Given the description of an element on the screen output the (x, y) to click on. 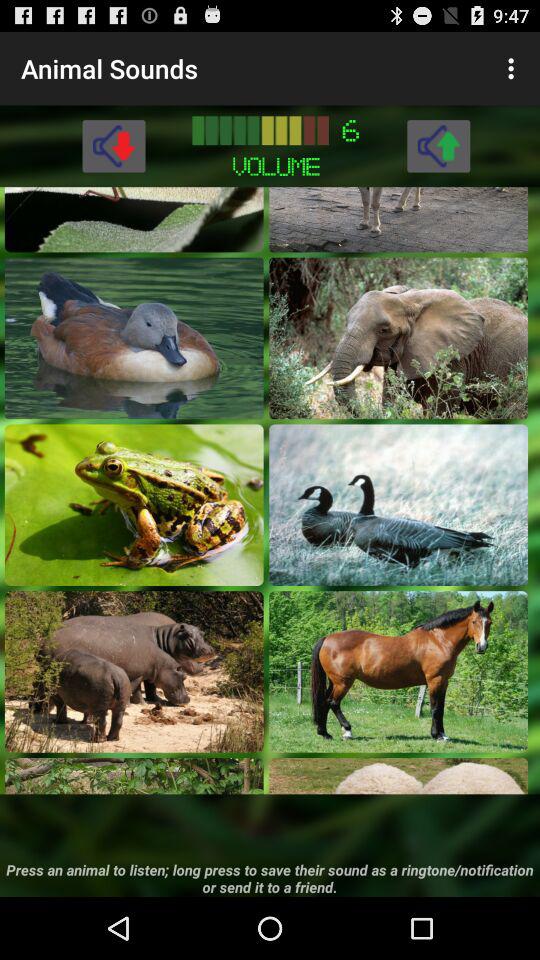
select animal sound (398, 671)
